Given the description of an element on the screen output the (x, y) to click on. 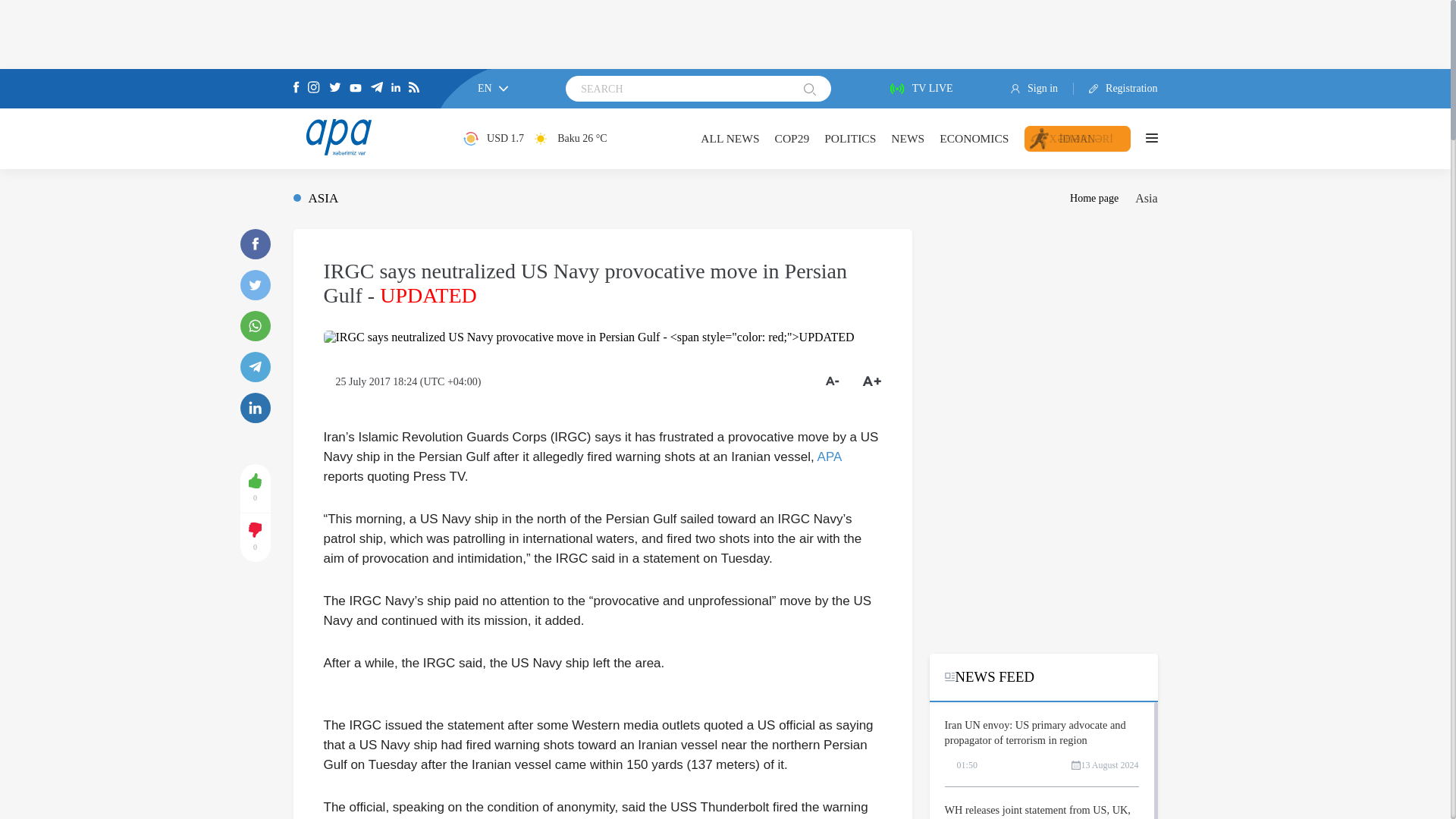
TV LIVE (921, 88)
COP29 (791, 138)
USD 1.7 (493, 138)
ALL NEWS (729, 138)
NEWS (907, 138)
Sign in (1042, 88)
POLITICS (850, 138)
ECONOMICS (974, 138)
Registration (1115, 88)
